Given the description of an element on the screen output the (x, y) to click on. 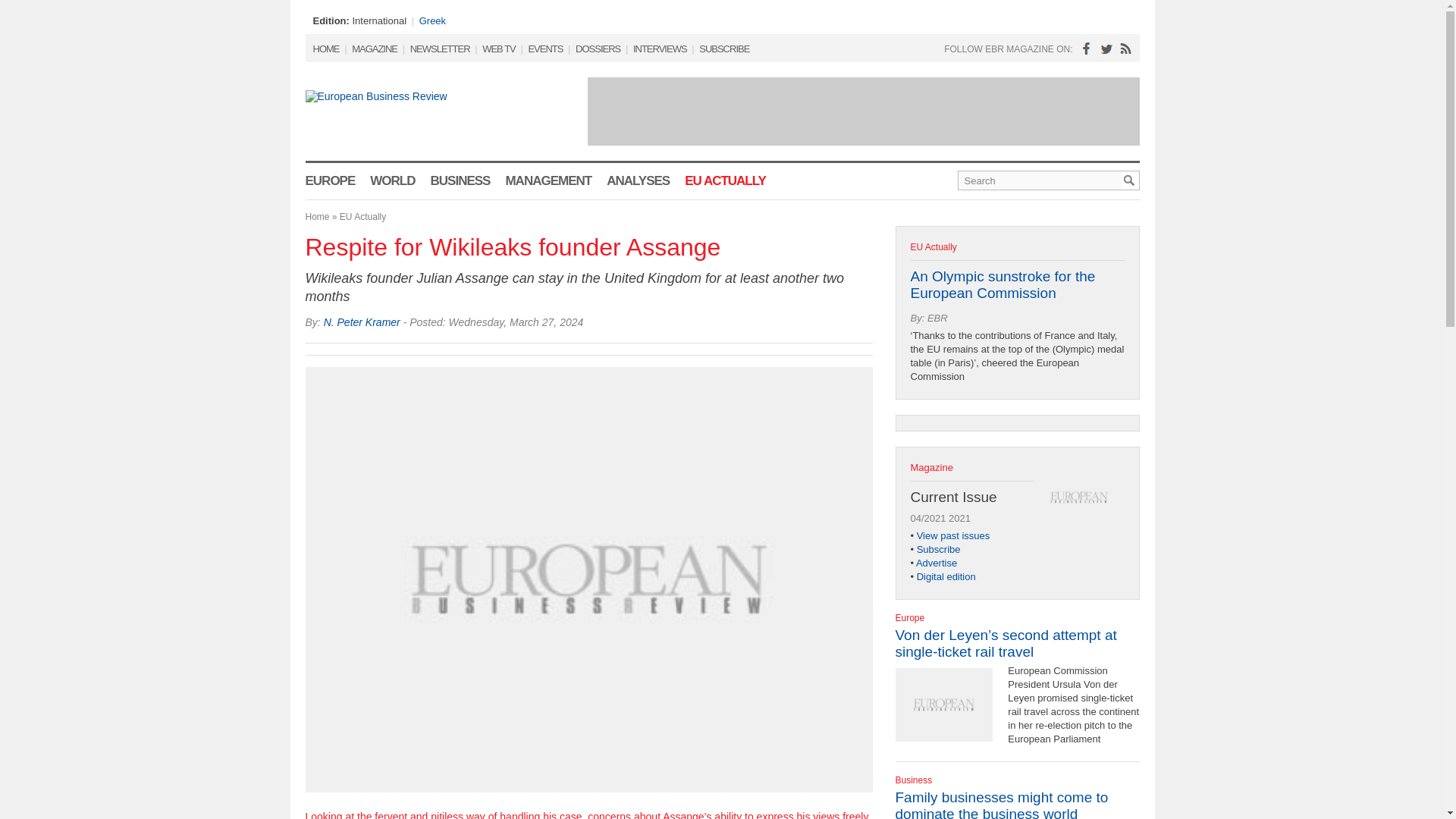
SUBSCRIBE (723, 48)
EU Actually (724, 180)
Home (326, 48)
MAGAZINE (374, 48)
Follow us on Facebook (1081, 49)
Analyses (638, 180)
Dossiers (597, 48)
Subscribe to the Printed Edition (723, 48)
Search (1039, 180)
Interviews (660, 48)
